Given the description of an element on the screen output the (x, y) to click on. 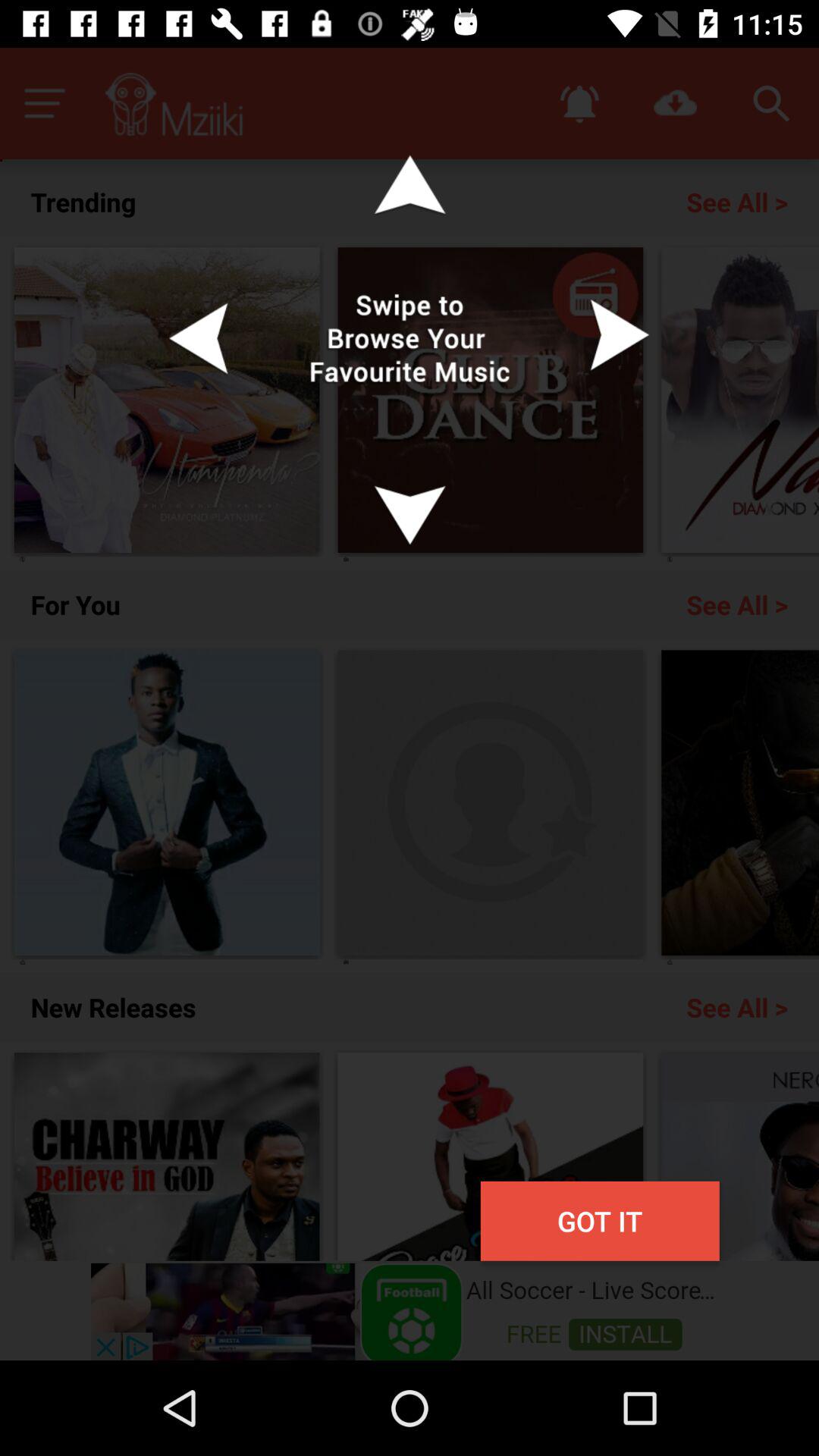
scroll to the got it icon (599, 1220)
